Given the description of an element on the screen output the (x, y) to click on. 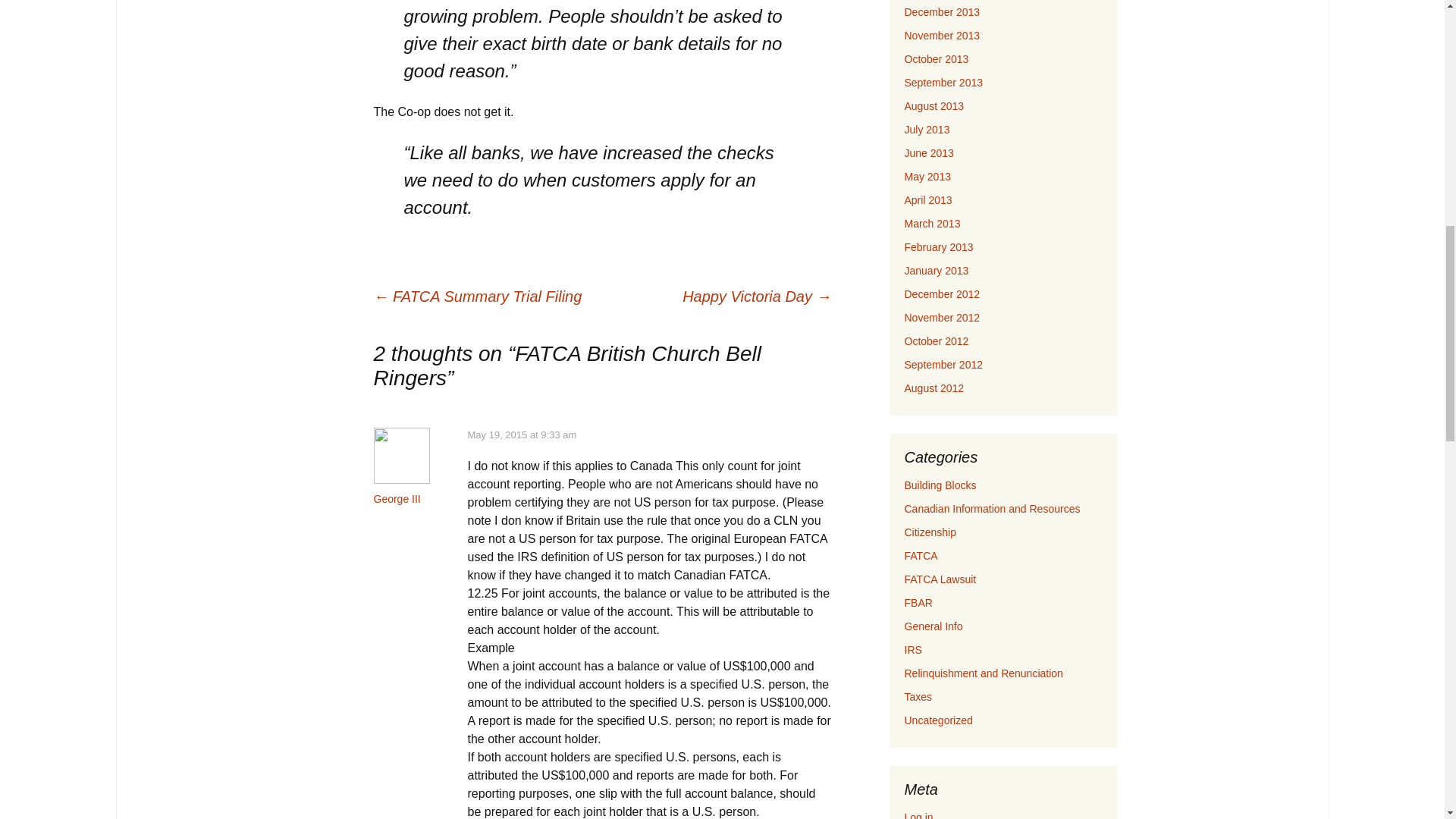
May 19, 2015 at 9:33 am (521, 434)
